Given the description of an element on the screen output the (x, y) to click on. 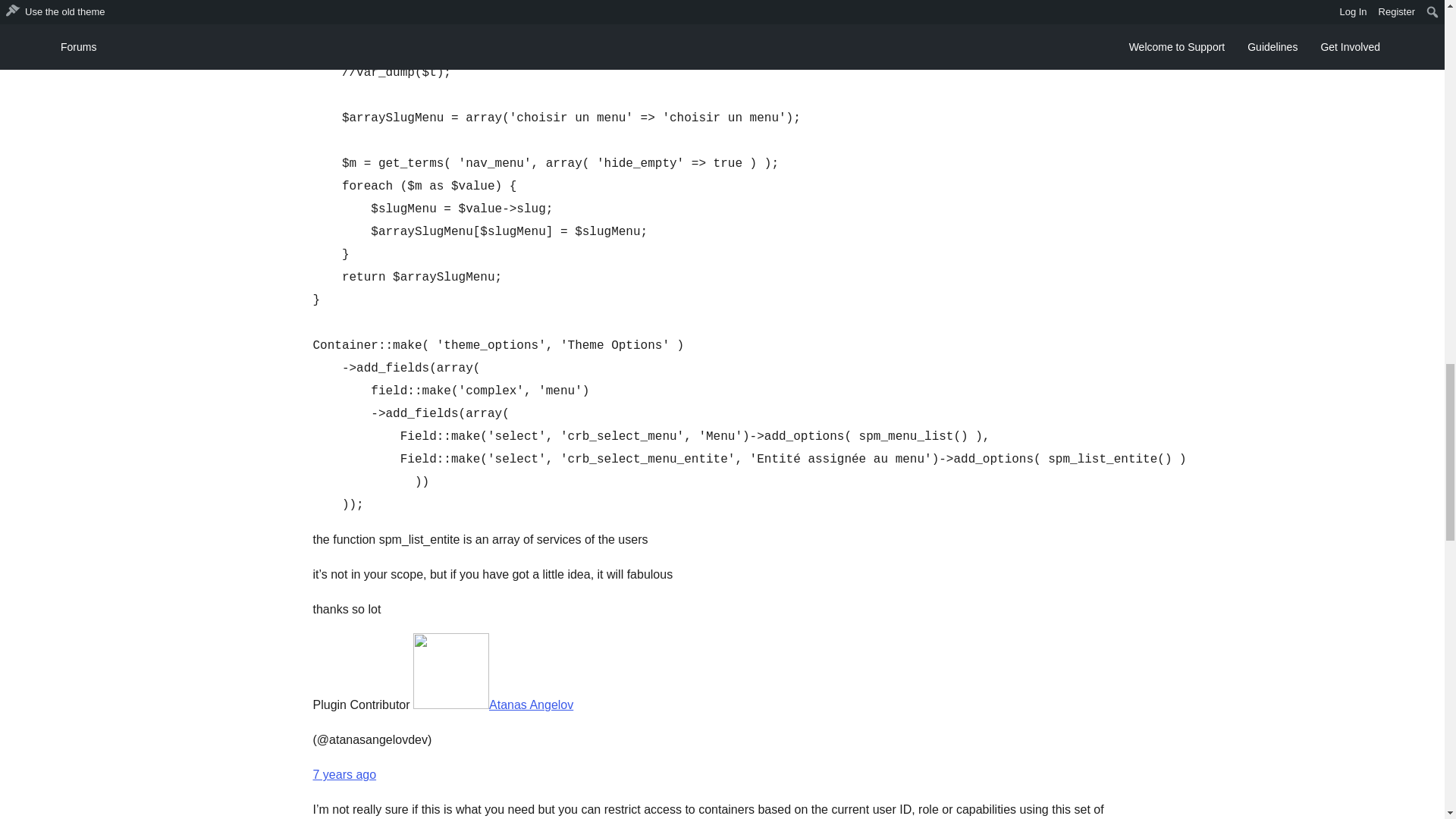
View Atanas Angelov's profile (493, 704)
This person is a contributor to this plugin (361, 704)
August 17, 2017 at 6:15 am (344, 774)
